Given the description of an element on the screen output the (x, y) to click on. 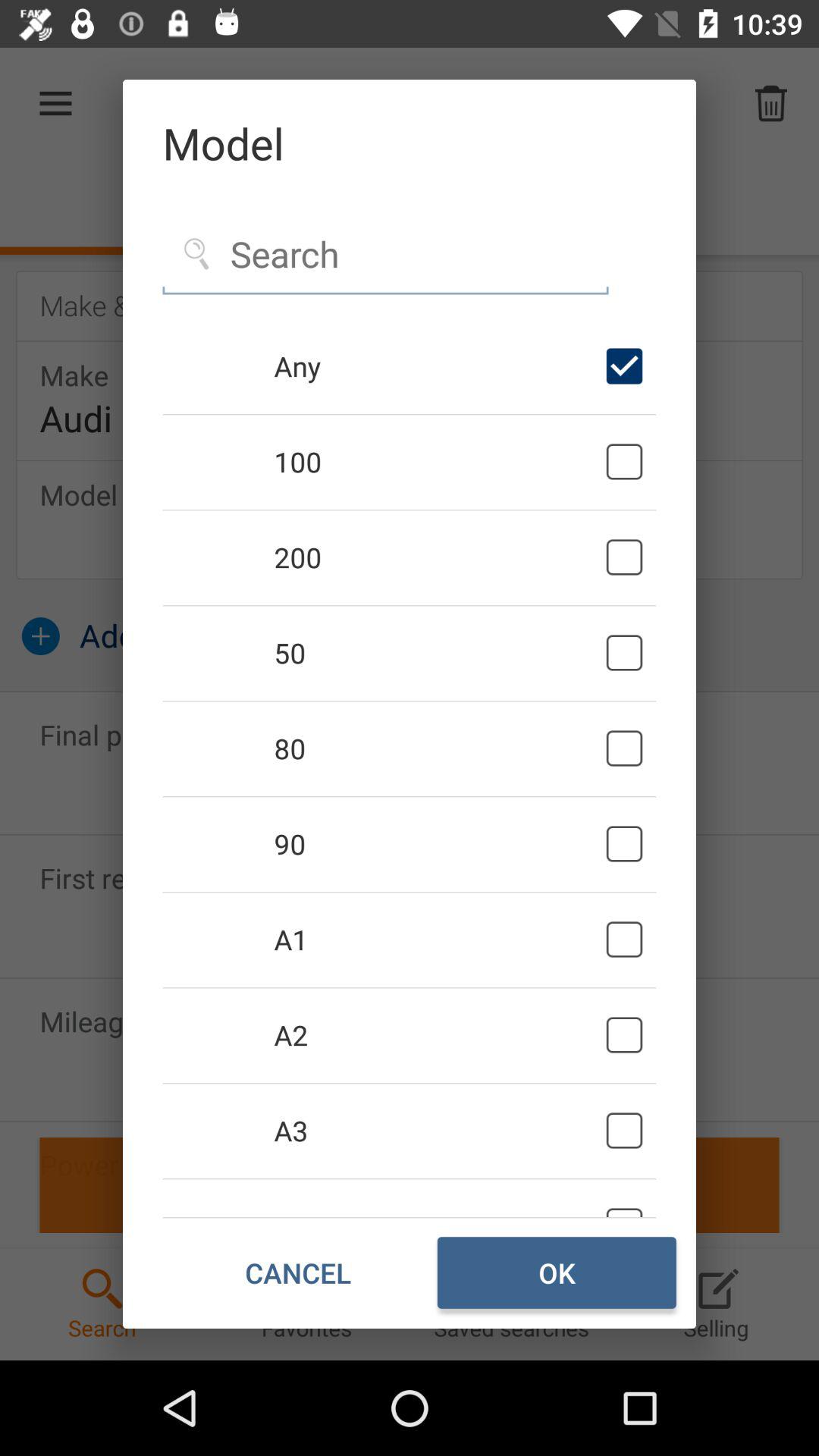
turn on icon below the a4 item (297, 1272)
